Given the description of an element on the screen output the (x, y) to click on. 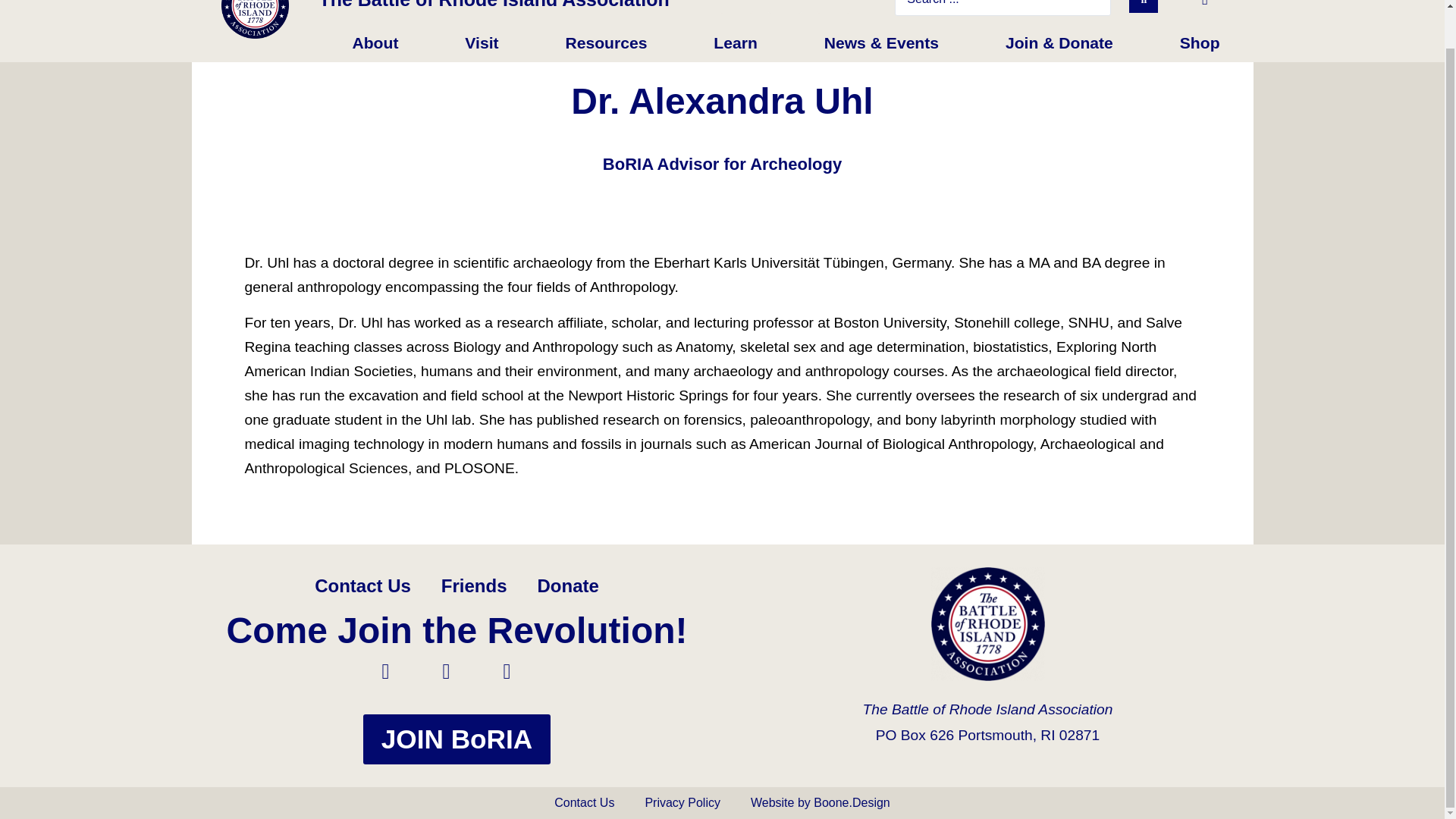
The Battle of Rhode Island Association (493, 4)
Resources (605, 43)
About (374, 43)
Visit (480, 43)
Learn (734, 43)
